Given the description of an element on the screen output the (x, y) to click on. 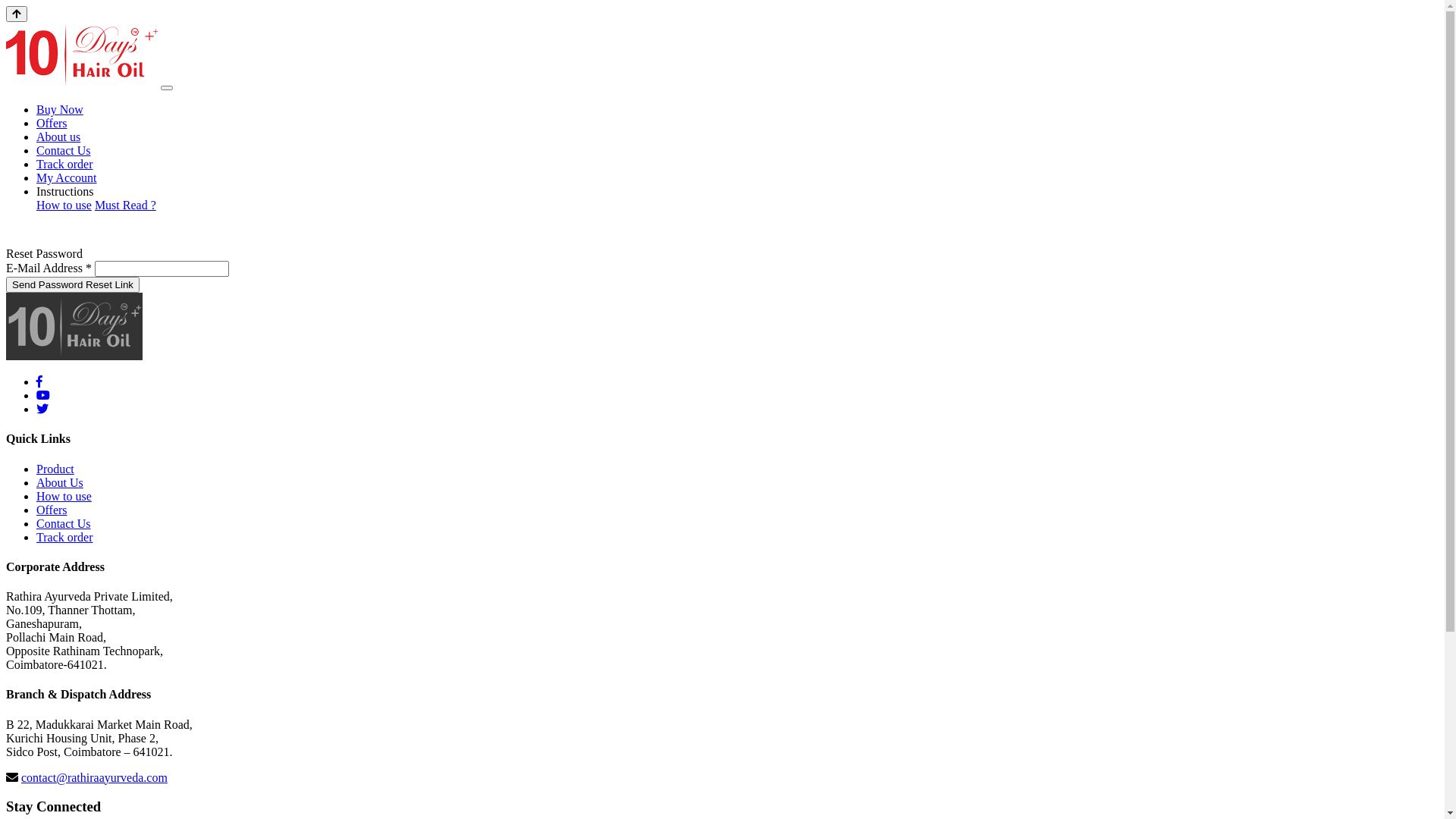
How to use Element type: text (63, 204)
Product Element type: text (55, 468)
Contact Us Element type: text (63, 150)
Instructions Element type: text (65, 191)
10 Days Hair Oil Element type: hover (81, 54)
Buy Now
(current) Element type: text (59, 109)
Offers Element type: text (51, 122)
Track order Element type: text (64, 163)
10 Days Hair Oil twitter Element type: hover (42, 408)
Track order Element type: text (64, 536)
contact@rathiraayurveda.com Element type: text (94, 777)
About Us Element type: text (59, 482)
Send Password Reset Link Element type: text (72, 284)
10 Days Hair Oil facebook Element type: hover (39, 381)
Contact Us Element type: text (63, 523)
Go to top Element type: hover (16, 13)
How to use Element type: text (63, 495)
Offers Element type: text (51, 509)
About us Element type: text (58, 136)
Must Read ? Element type: text (125, 204)
My Account Element type: text (66, 177)
10 Days Hair Oil youtube Element type: hover (43, 395)
10 days hair oil Element type: hover (74, 326)
